Given the description of an element on the screen output the (x, y) to click on. 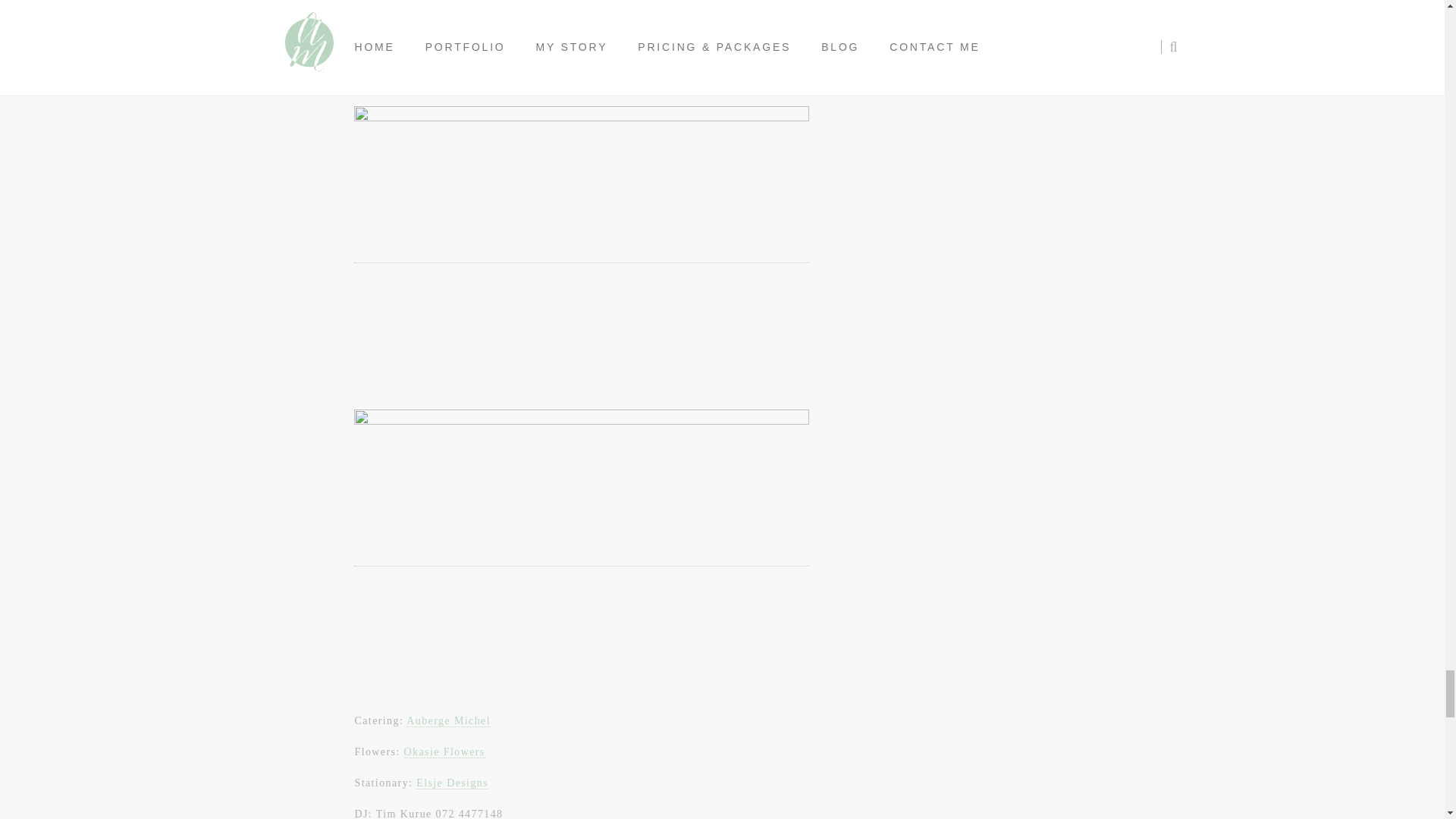
Elsje Designs (451, 783)
Auberge Michel (448, 720)
Okasie Flowers (444, 752)
